Given the description of an element on the screen output the (x, y) to click on. 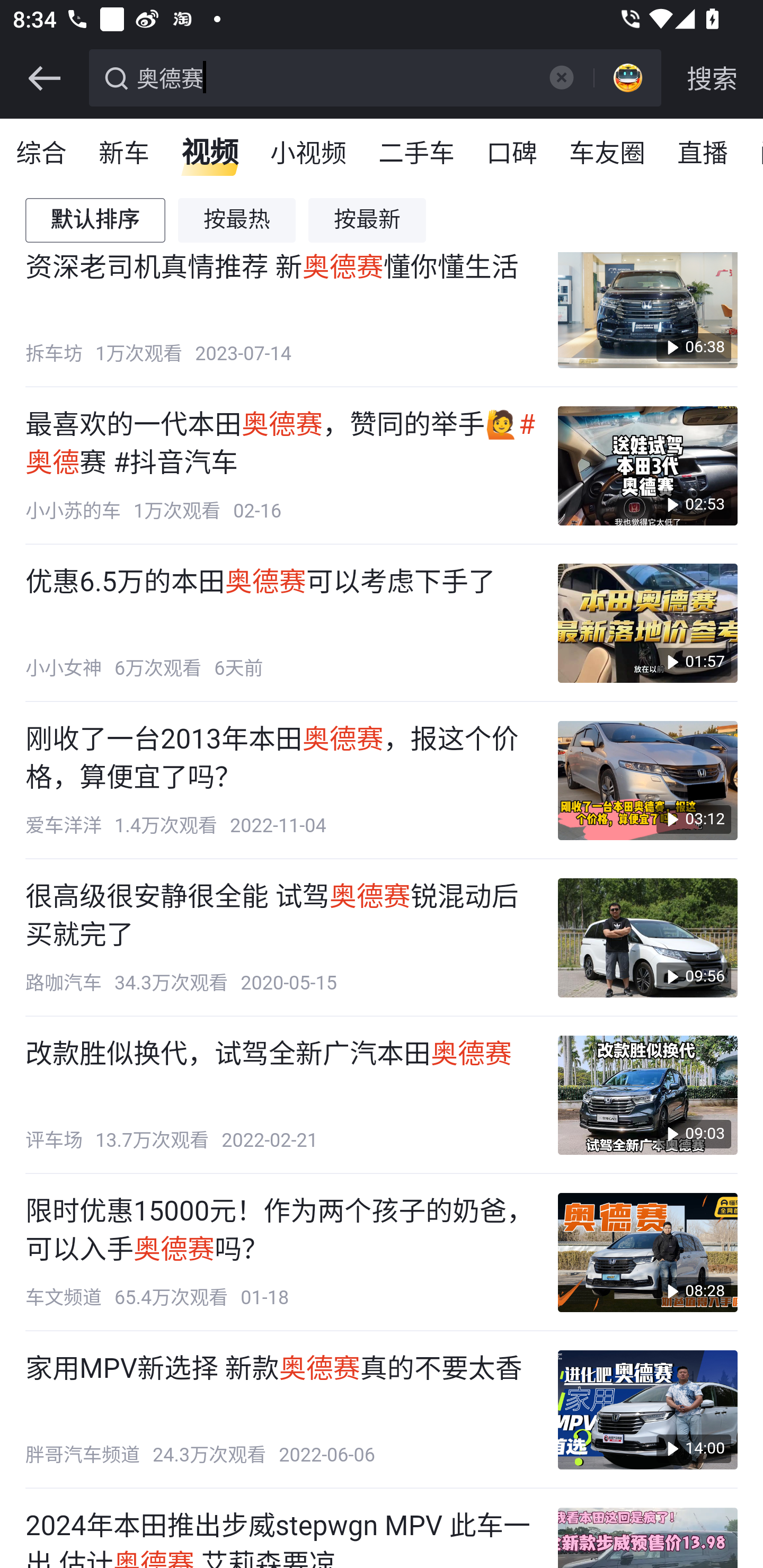
奥德赛 (331, 76)
 (560, 77)
 (44, 78)
搜索 (711, 78)
综合 (41, 153)
新车 (124, 153)
视频 (210, 153)
小视频 (308, 153)
二手车 (417, 153)
口碑 (512, 153)
车友圈 (608, 153)
直播 (703, 153)
默认排序 (96, 220)
按最热 (237, 220)
按最新 (367, 220)
资深老司机真情推荐 新 奥德赛 懂你懂生活 拆车坊 1万次观看 2023-07-14 (281, 308)
06:38 (647, 308)
最喜欢的一代本田 奥德赛 ，赞同的举手🙋 #奥德 赛 #抖音汽车 小小苏的车 1万次观看 02-16 (281, 465)
02:53 (647, 465)
优惠6.5万的本田 奥德赛 可以考虑下手了 小小女神 6万次观看 6天前 (281, 622)
01:57 (647, 622)
03:12 (647, 780)
很高级很安静很全能 试驾 奥德赛 锐混动后买就完了 路咖汽车 34.3万次观看 2020-05-15 (281, 937)
09:56 (647, 937)
改款胜似换代，试驾全新广汽本田 奥德赛 评车场 13.7万次观看 2022-02-21 (281, 1094)
09:03 (647, 1094)
08:28 (647, 1252)
家用MPV新选择 新款 奥德赛 真的不要太香 胖哥汽车频道 24.3万次观看 2022-06-06 (281, 1409)
14:00 (647, 1409)
